Given the description of an element on the screen output the (x, y) to click on. 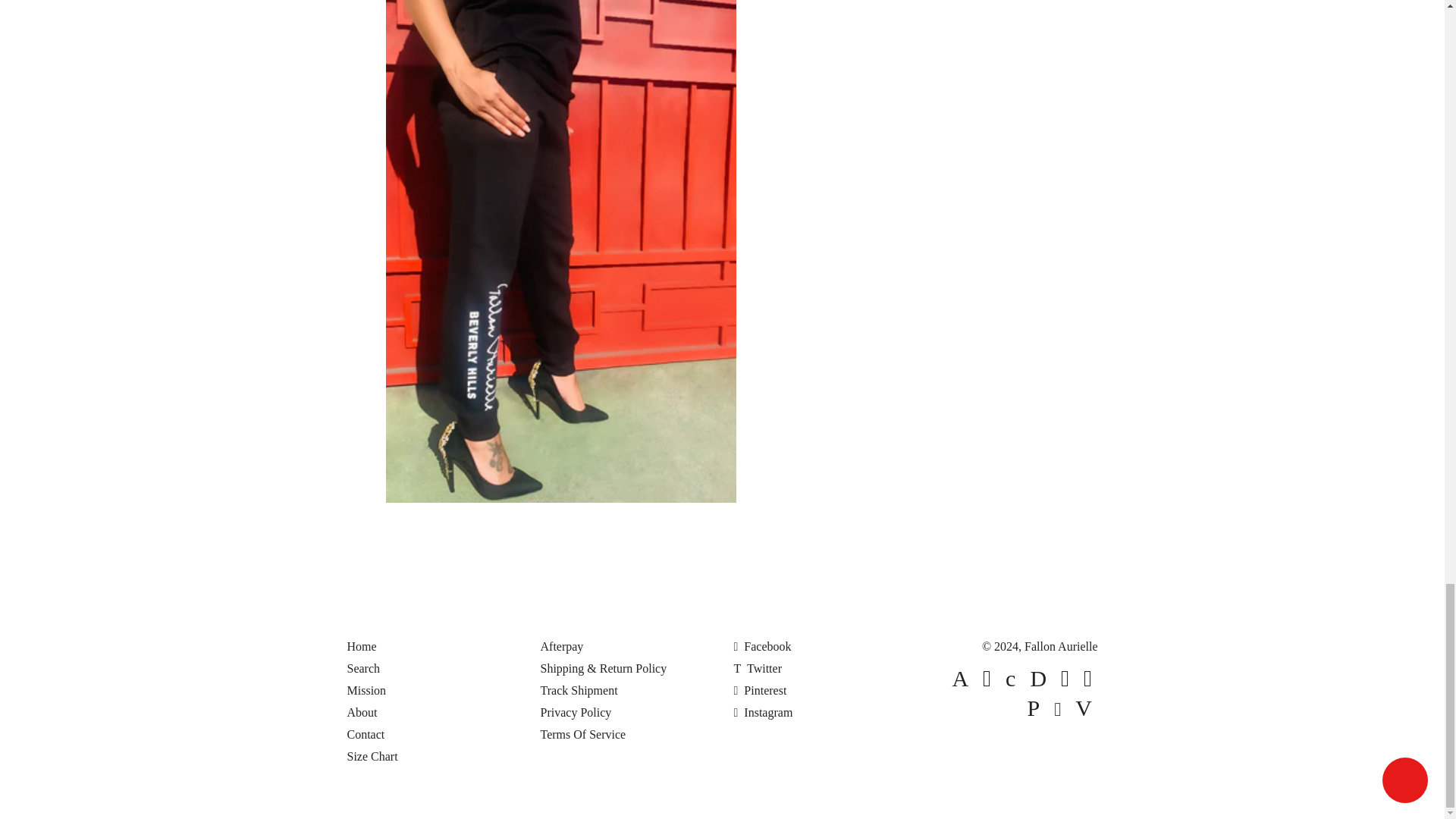
Fallon Aurielle on Pinterest (760, 689)
Fallon Aurielle on Instagram (763, 712)
Fallon Aurielle on Facebook (762, 645)
Fallon Aurielle on Twitter (757, 667)
